Given the description of an element on the screen output the (x, y) to click on. 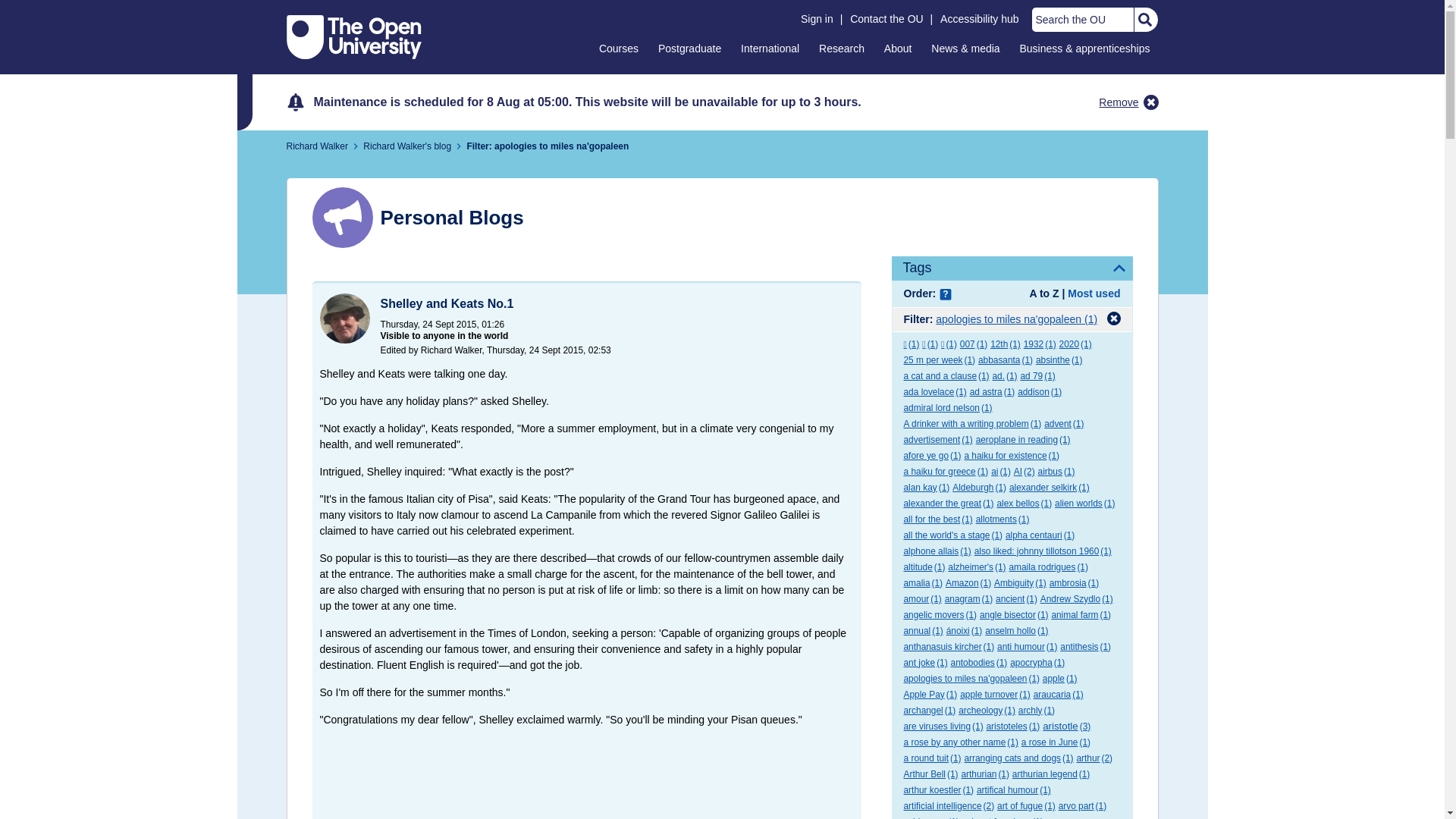
Richard Walker (316, 145)
The Open University (354, 36)
Dismiss this notification (1150, 102)
Search (1144, 19)
Richard Walker's blog (406, 145)
Search (1144, 19)
Tags (1011, 268)
Accessibility hub (979, 19)
Research (841, 48)
